Given the description of an element on the screen output the (x, y) to click on. 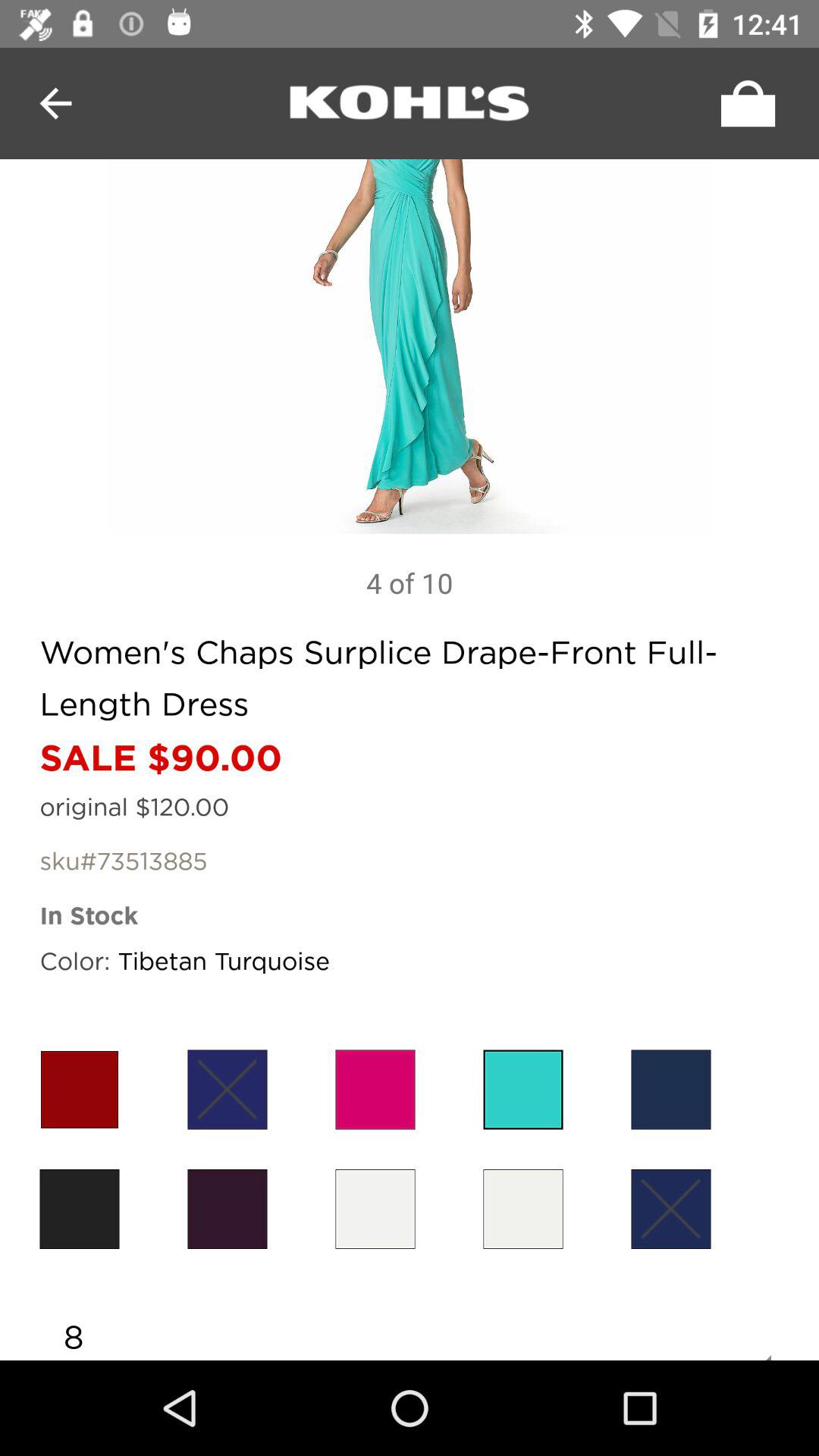
open item below the in stock item (670, 1089)
